Given the description of an element on the screen output the (x, y) to click on. 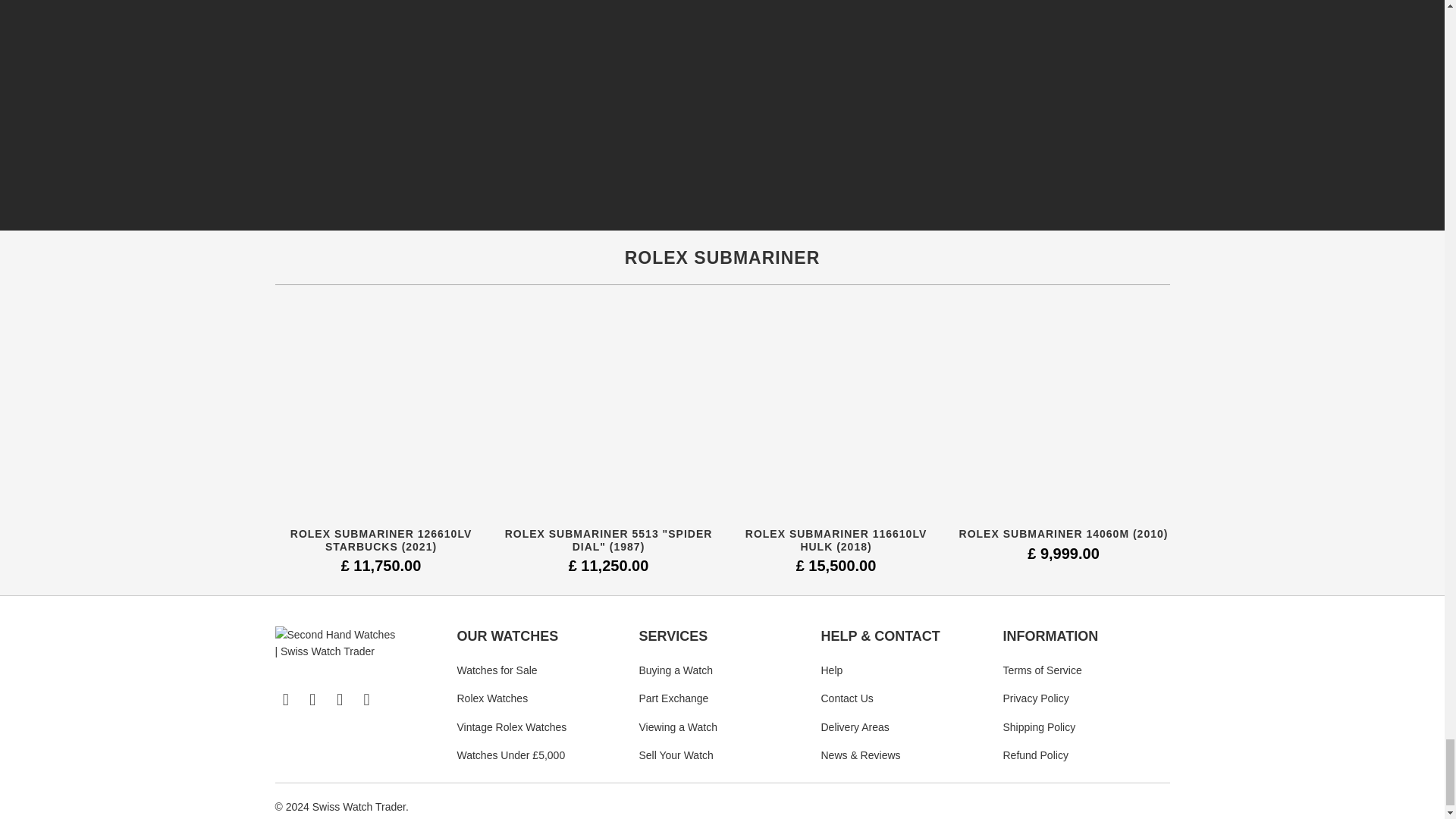
Email Swiss Watch Trader  (286, 700)
